Given the description of an element on the screen output the (x, y) to click on. 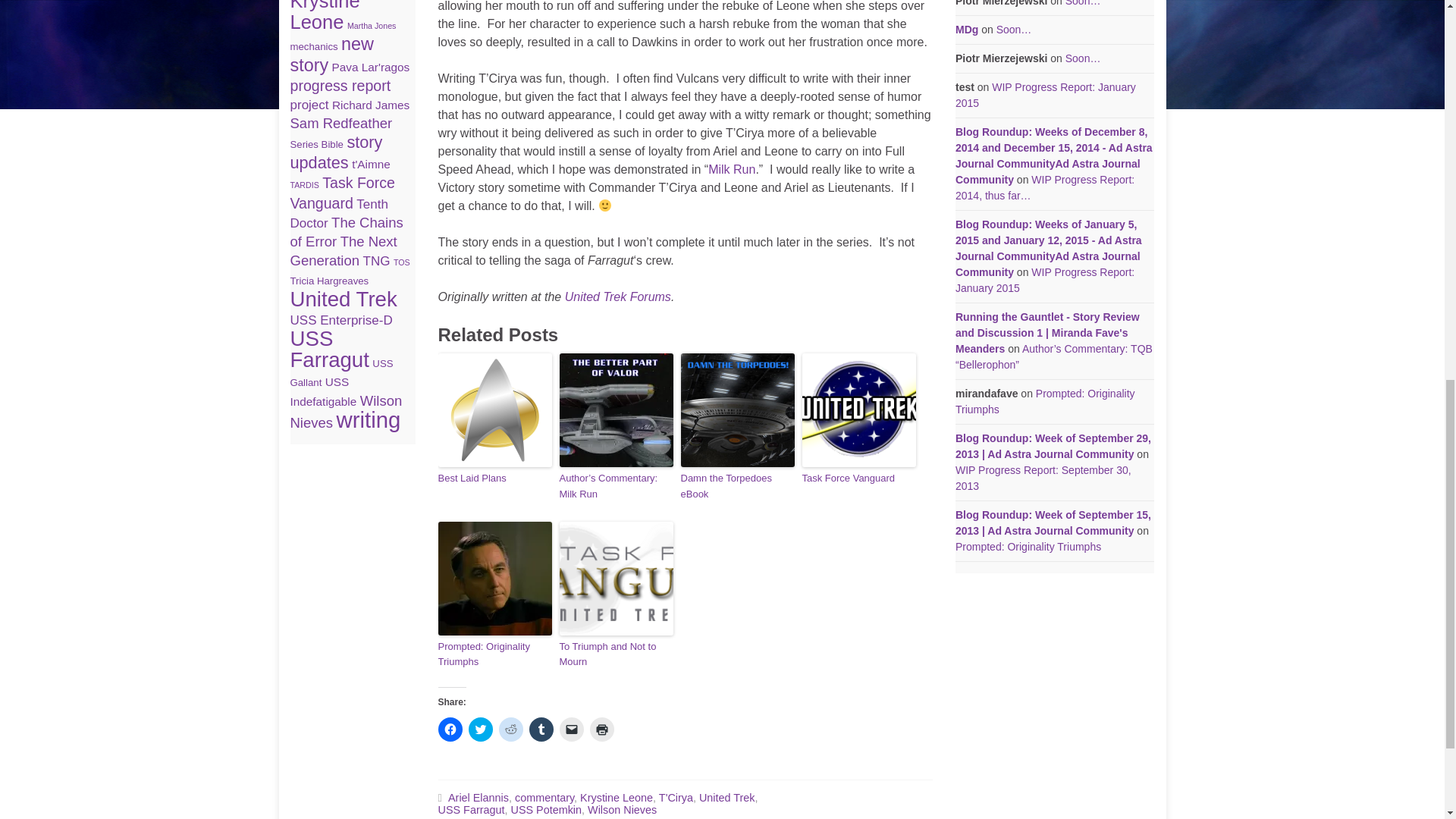
Click to print (601, 729)
Best Laid Plans (494, 478)
Milk Run (731, 169)
United Trek Forums (617, 296)
Click to share on Twitter (480, 729)
Damn the Torpedoes eBook (737, 486)
Click to share on Facebook (450, 729)
Click to share on Reddit (510, 729)
Click to email a link to a friend (571, 729)
Task Force Vanguard (858, 478)
